Given the description of an element on the screen output the (x, y) to click on. 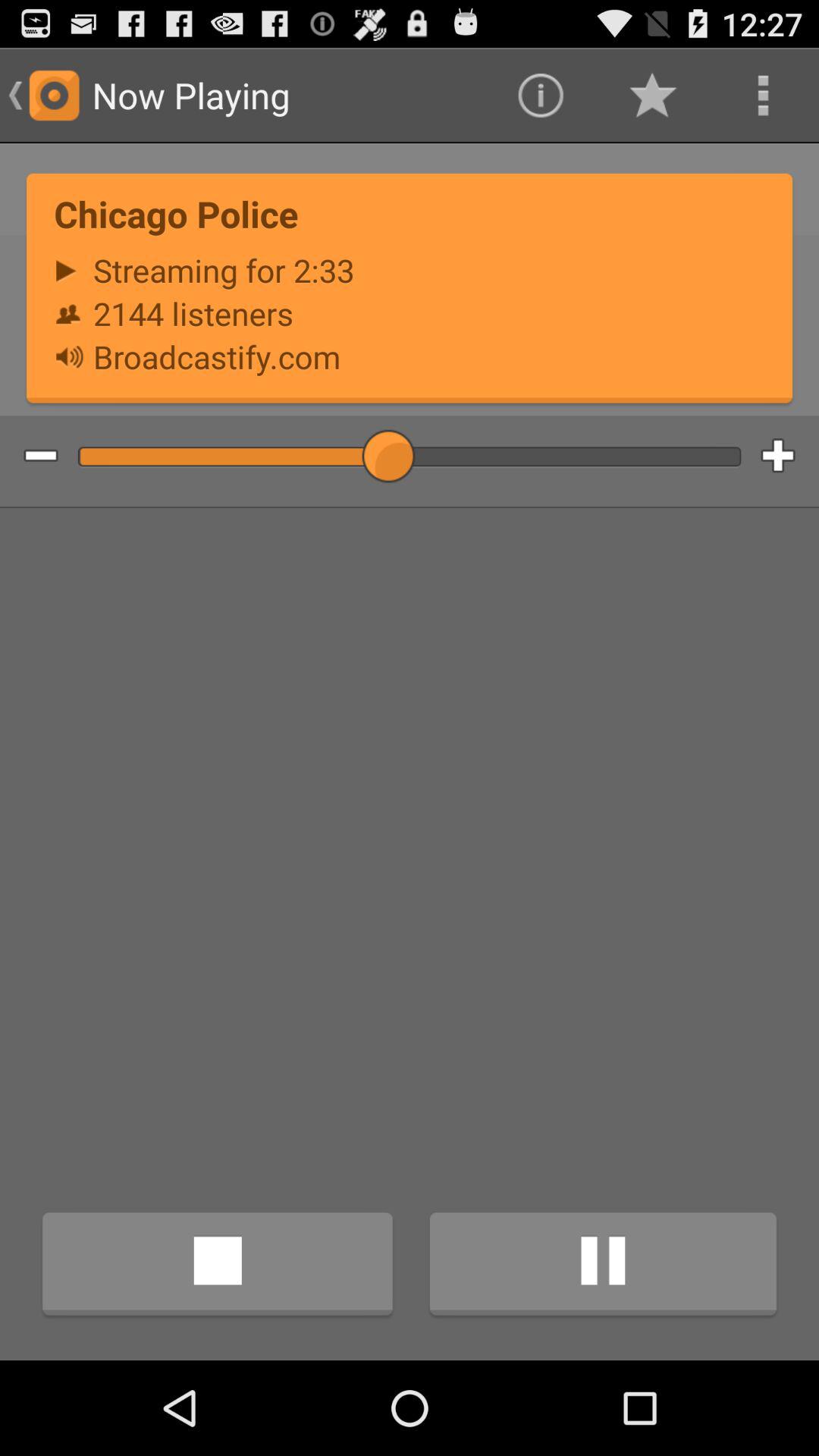
turn on the icon next to the now playing app (540, 95)
